Given the description of an element on the screen output the (x, y) to click on. 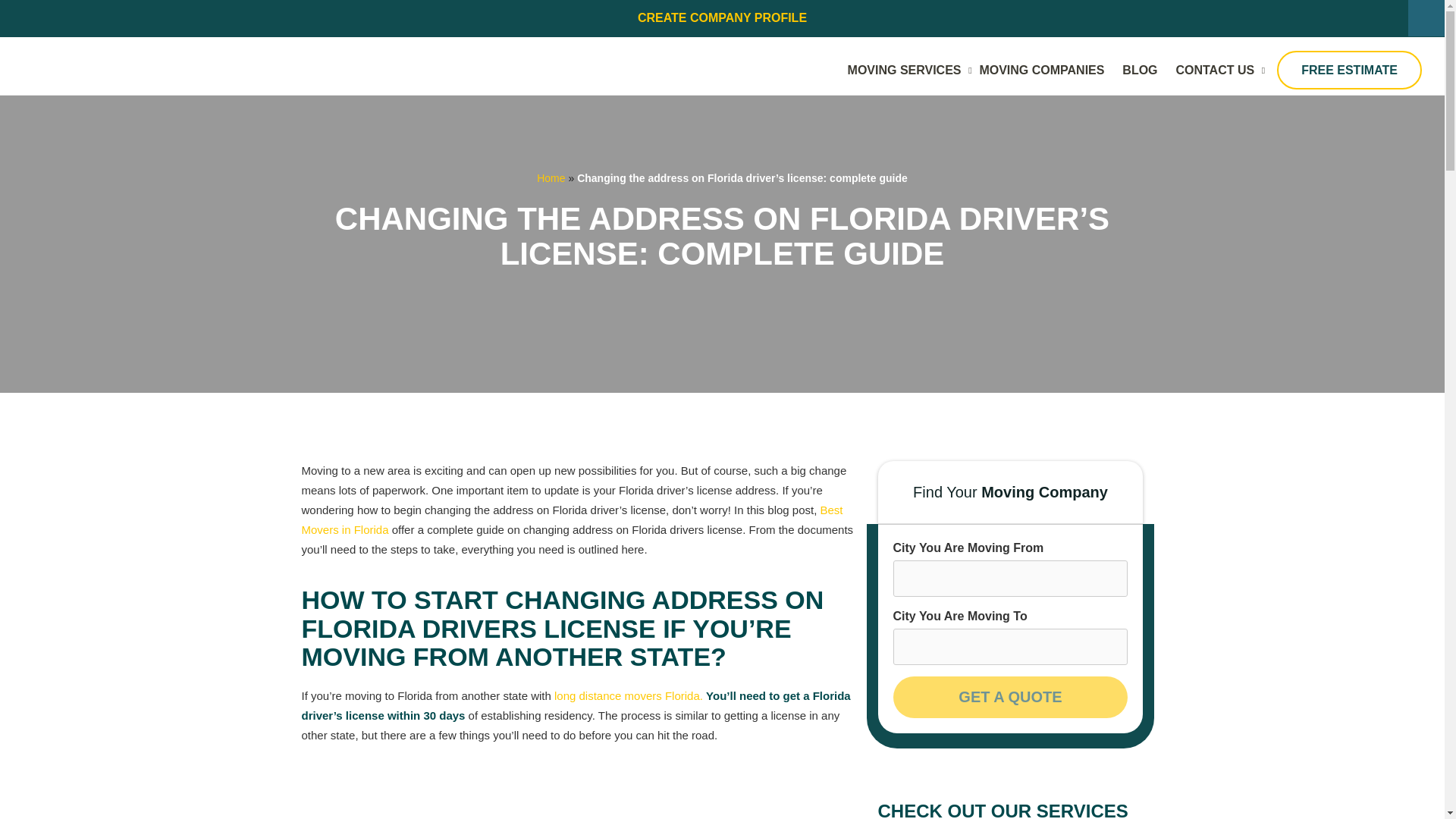
Best Movers in Florida (572, 519)
FREE ESTIMATE (1349, 69)
MOVING SERVICES (904, 70)
long distance movers Florida. (628, 695)
CREATE COMPANY PROFILE (721, 17)
MOVING COMPANIES (1041, 70)
Get a Quote (1010, 697)
Home (550, 177)
BLOG (1139, 70)
CONTACT US (1214, 70)
